Given the description of an element on the screen output the (x, y) to click on. 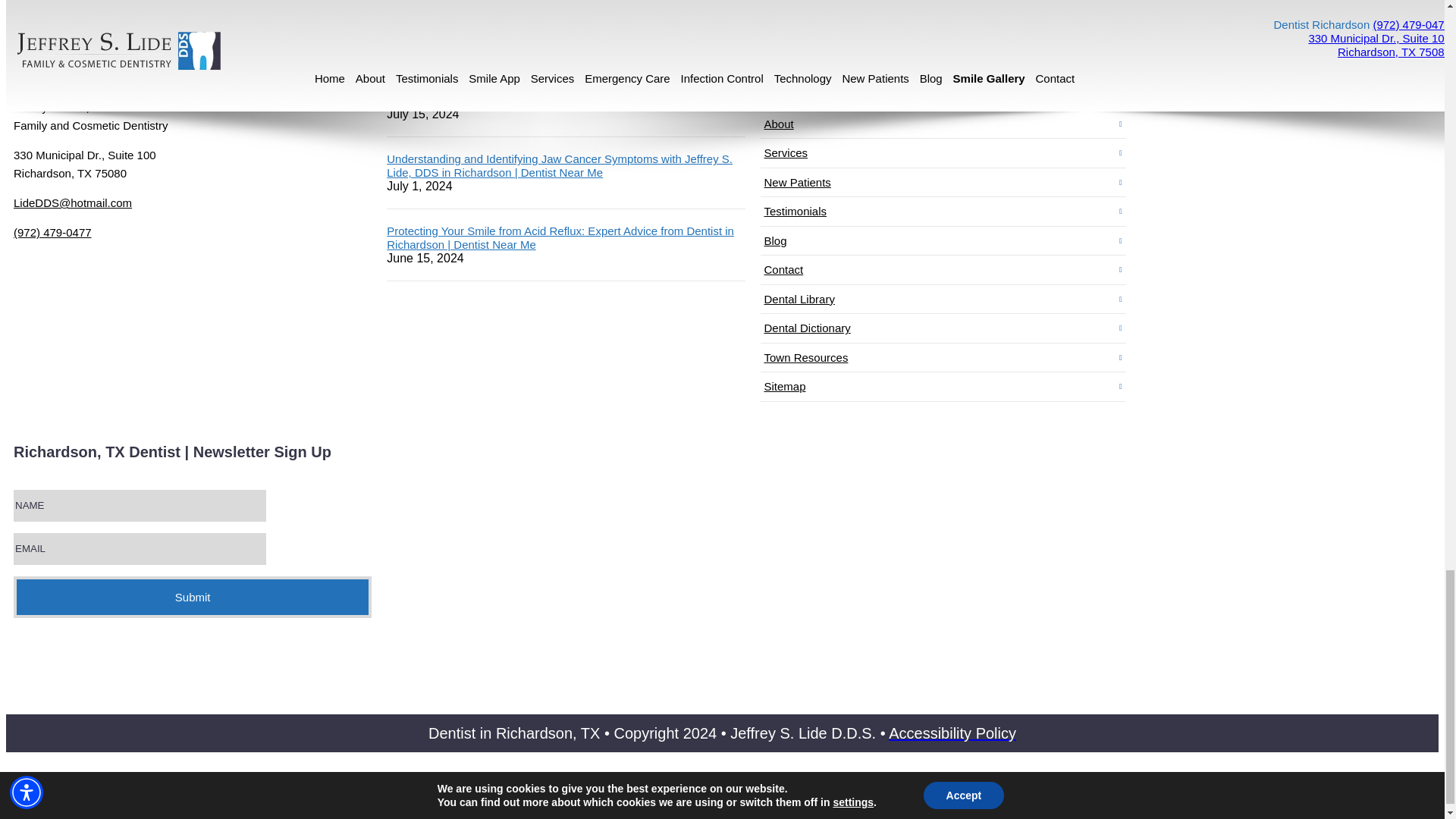
Submit (192, 597)
